Given the description of an element on the screen output the (x, y) to click on. 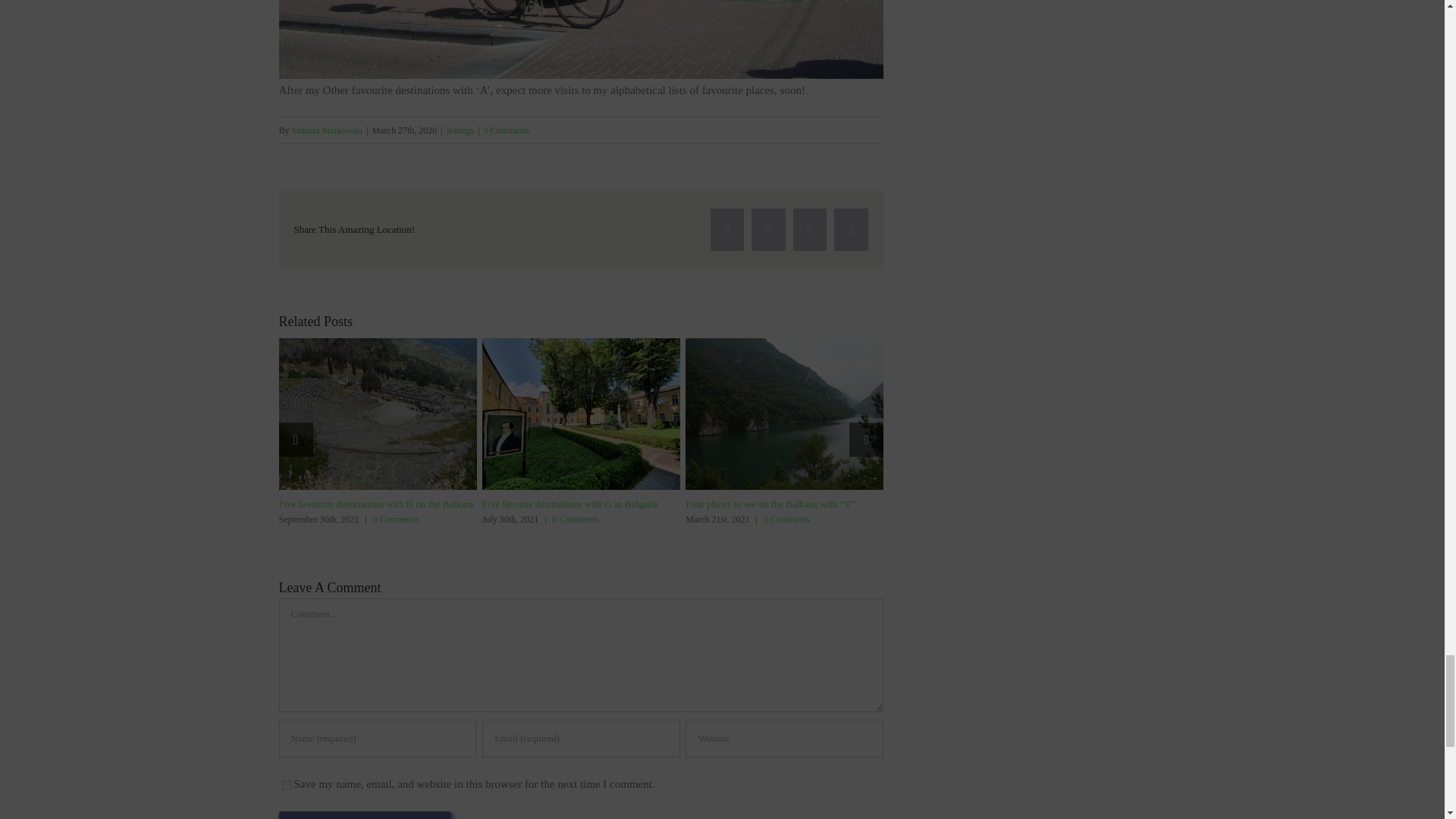
Five favorite destinations with G in Bulgaria (570, 503)
Post Comment (365, 814)
yes (287, 785)
SImana Markovska (327, 130)
Posts by SImana Markovska (327, 130)
Ratings (460, 130)
Five favourite destinations with D on the Balkans (376, 503)
